Given the description of an element on the screen output the (x, y) to click on. 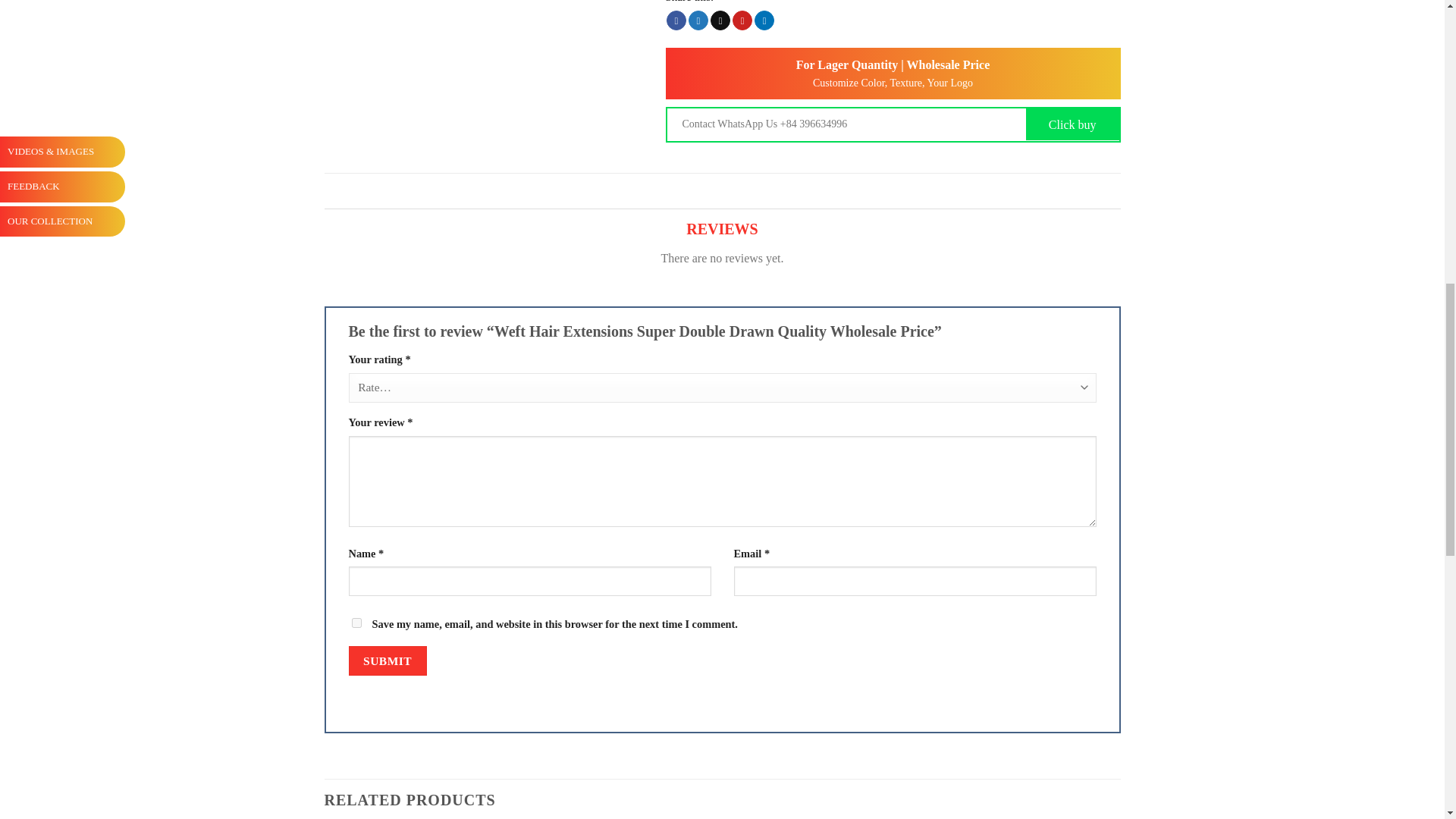
yes (356, 623)
Share on Facebook (675, 20)
Submit (387, 660)
